Given the description of an element on the screen output the (x, y) to click on. 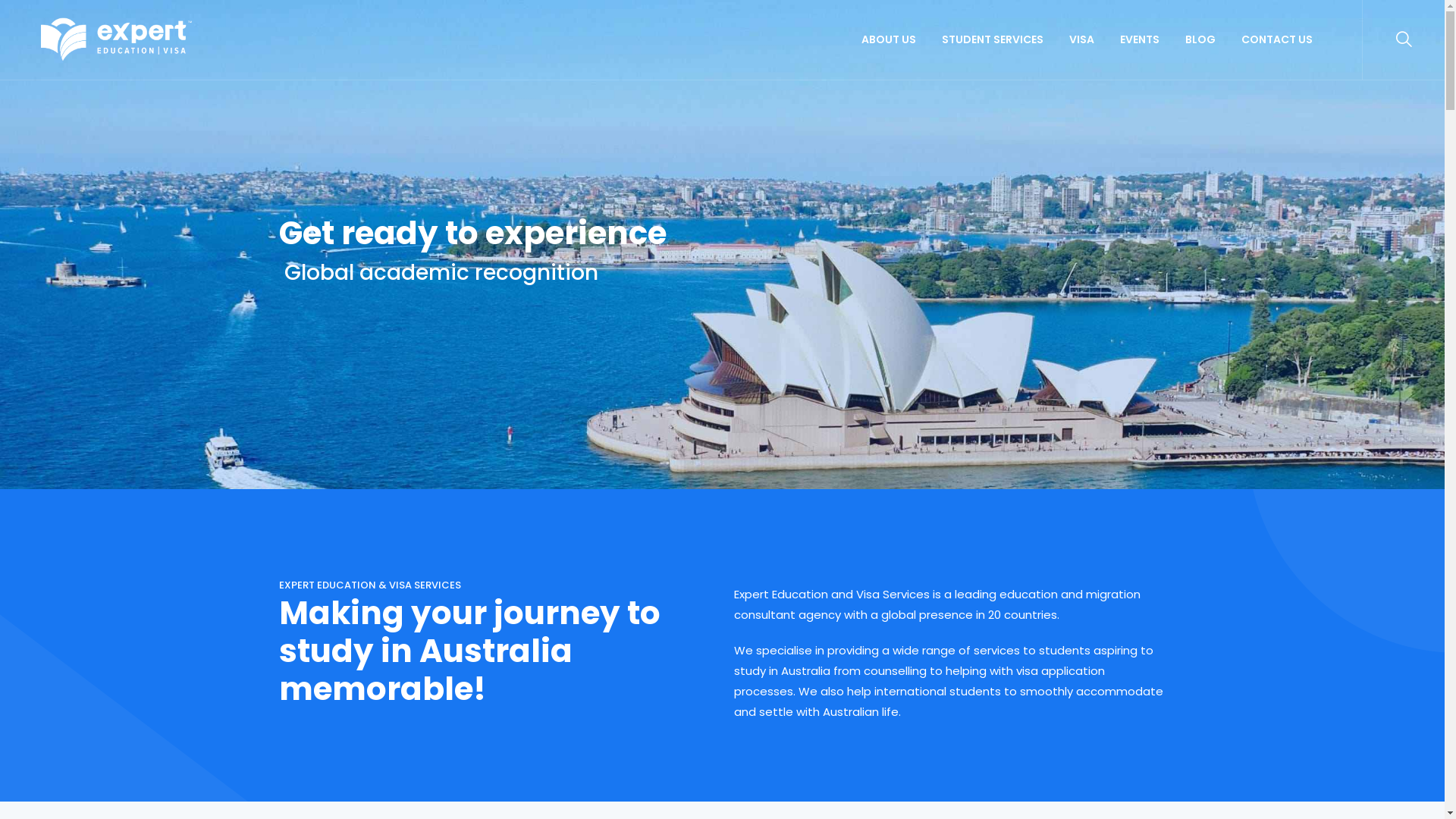
EVENTS Element type: text (1139, 39)
ABOUT US Element type: text (888, 39)
CONTACT US Element type: text (1276, 39)
VISA Element type: text (1081, 39)
STUDENT SERVICES Element type: text (992, 39)
BLOG Element type: text (1200, 39)
Expert Education Australia Element type: hover (115, 39)
